Given the description of an element on the screen output the (x, y) to click on. 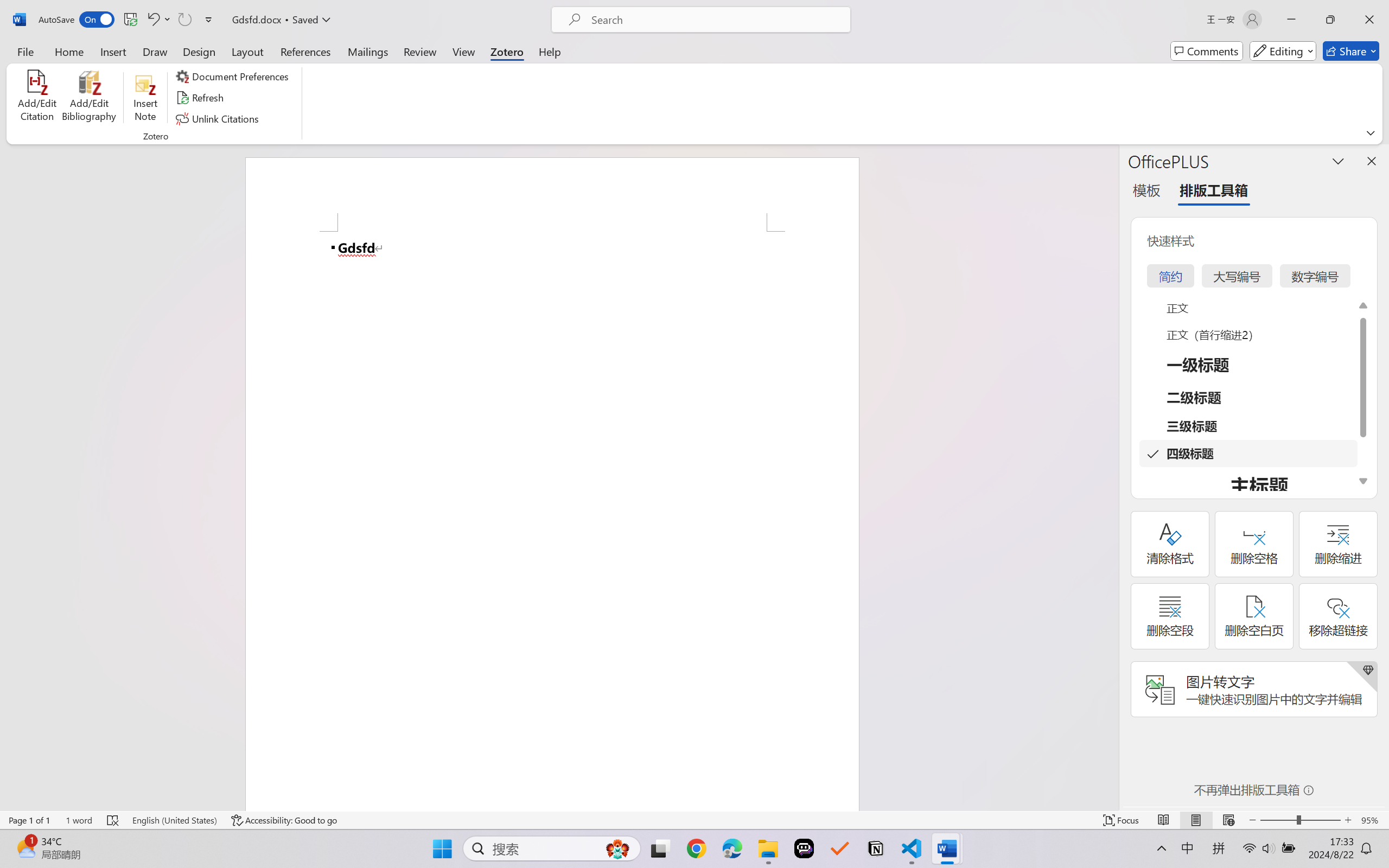
Document Preferences (233, 75)
Spelling and Grammar Check Errors (113, 819)
